Given the description of an element on the screen output the (x, y) to click on. 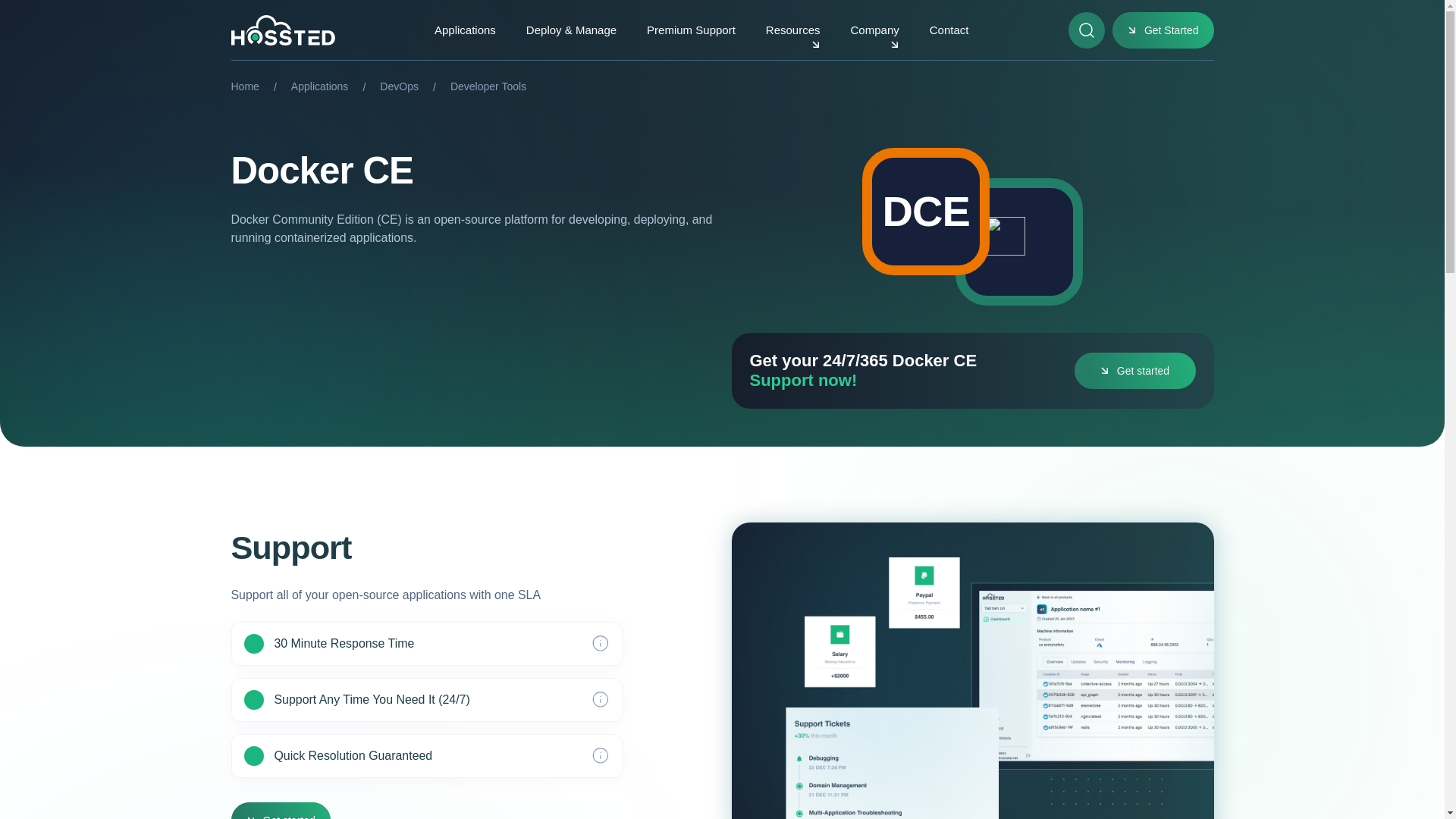
Resources (793, 29)
Applications (464, 29)
Premium Support (690, 29)
Get started (1134, 370)
Developer Tools (487, 86)
Contact (949, 29)
DevOps (399, 86)
Home (244, 86)
Applications (320, 86)
Company (874, 29)
Get Started (1163, 30)
